Given the description of an element on the screen output the (x, y) to click on. 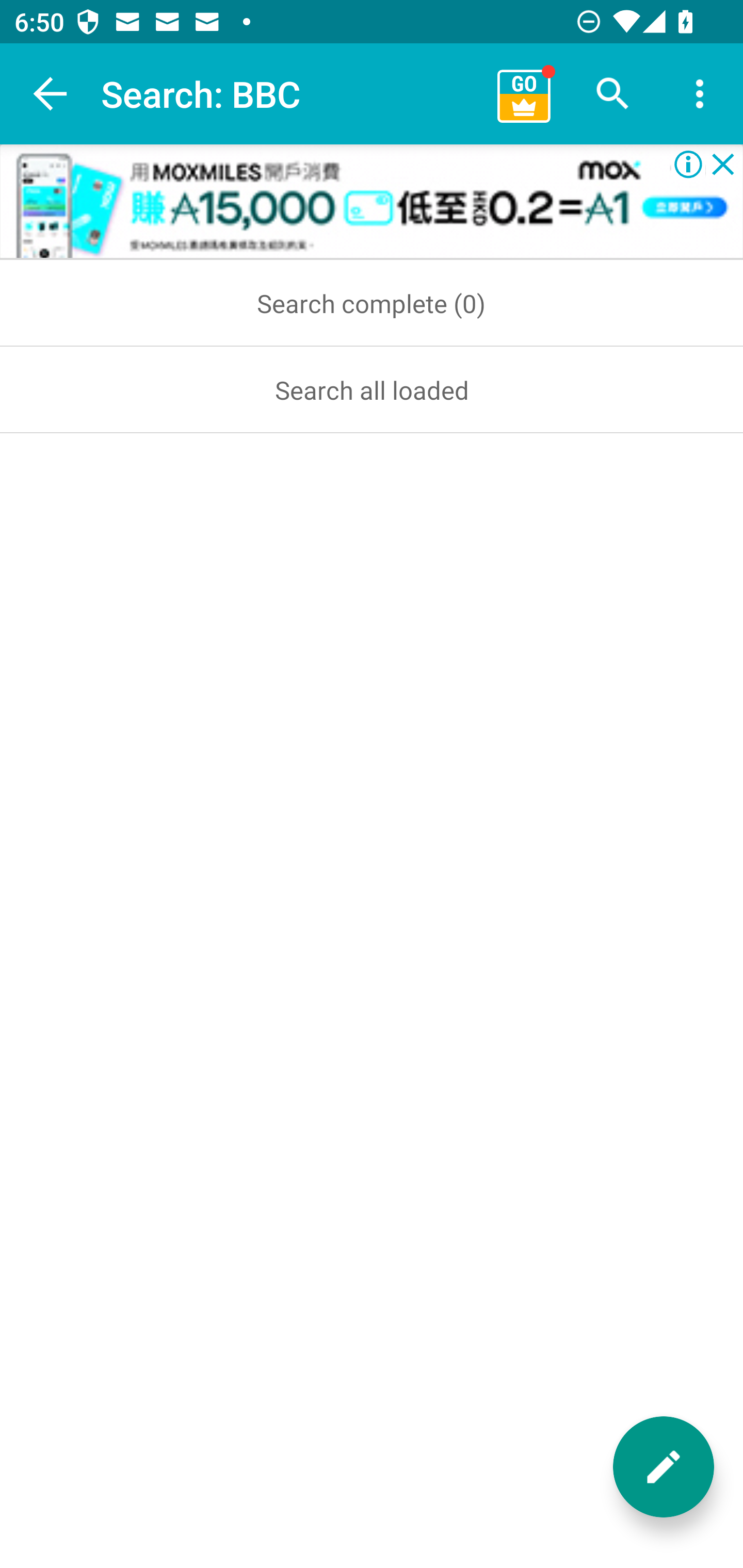
Navigate up (50, 93)
Search (612, 93)
More options (699, 93)
Search complete (0) (371, 303)
Search all loaded (371, 389)
New message (663, 1466)
